Given the description of an element on the screen output the (x, y) to click on. 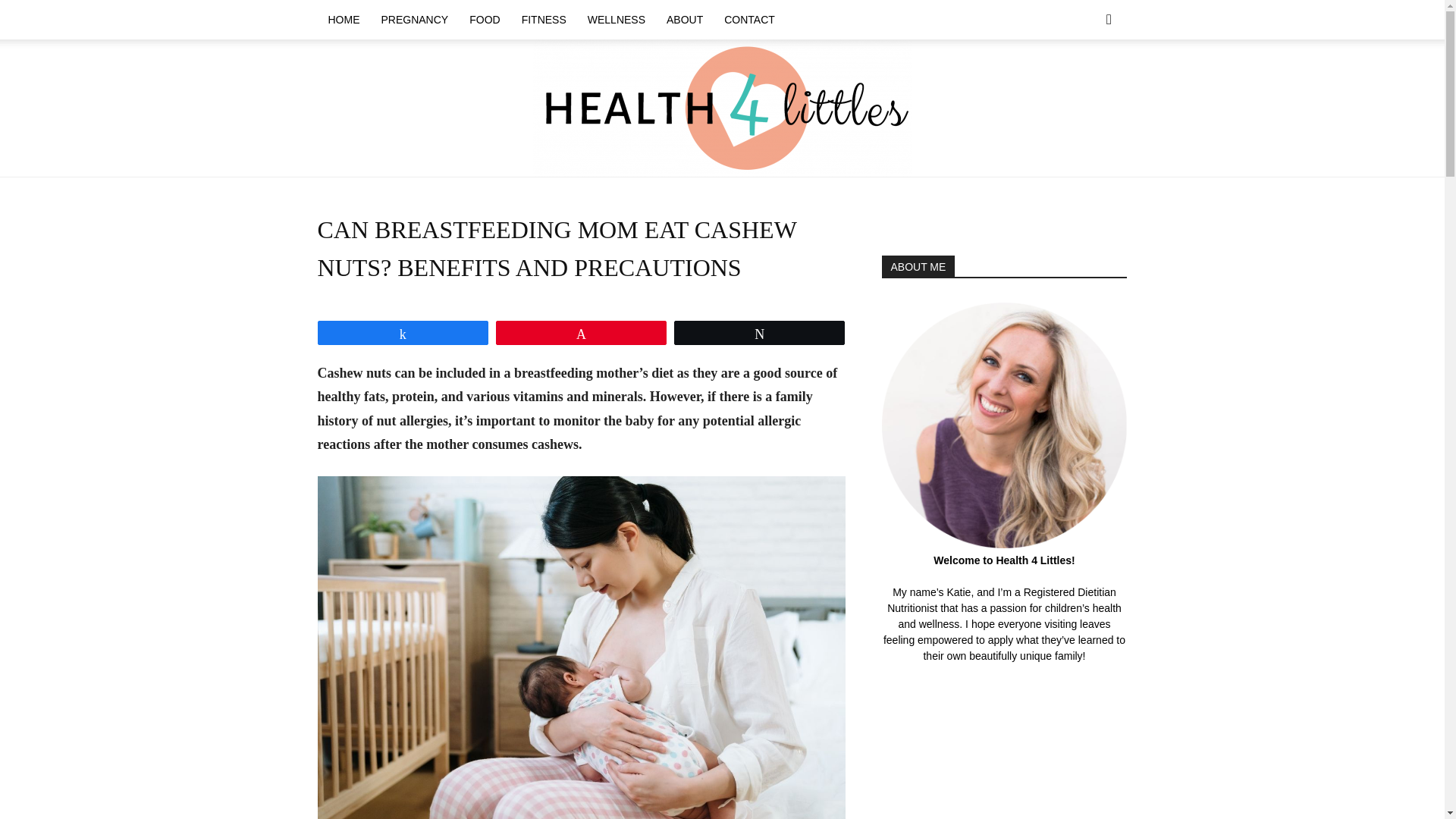
FOOD (484, 19)
HOME (343, 19)
PREGNANCY (413, 19)
FITNESS (543, 19)
